Given the description of an element on the screen output the (x, y) to click on. 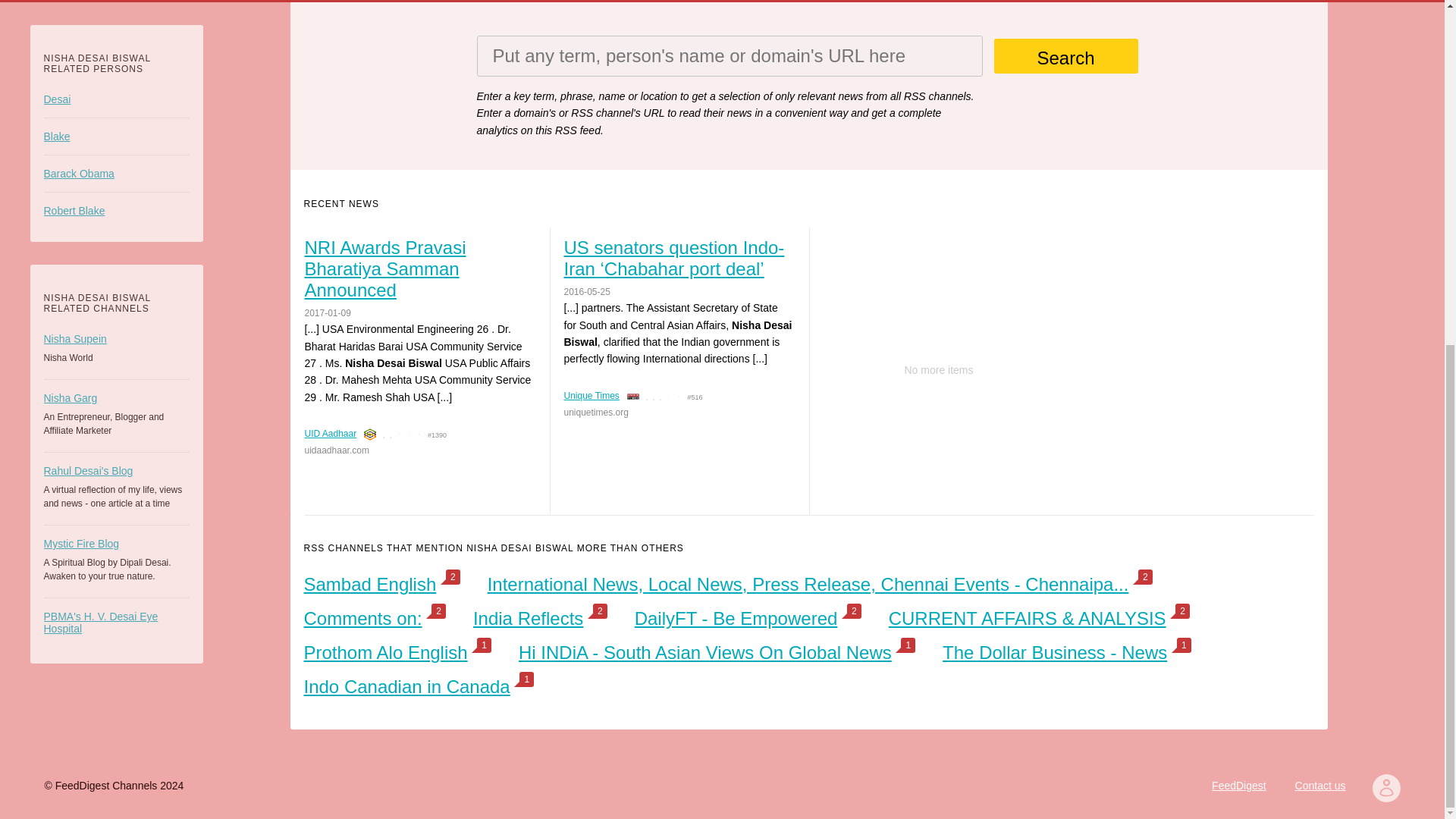
India Reflects (528, 618)
Comments on: (362, 618)
UID Aadhaar (330, 433)
DailyFT - Be Empowered (736, 618)
Prothom Alo English (384, 652)
Search (1064, 55)
Unique Times (592, 395)
NRI Awards Pravasi Bharatiya Samman Announced (419, 269)
Sambad English (368, 584)
